Given the description of an element on the screen output the (x, y) to click on. 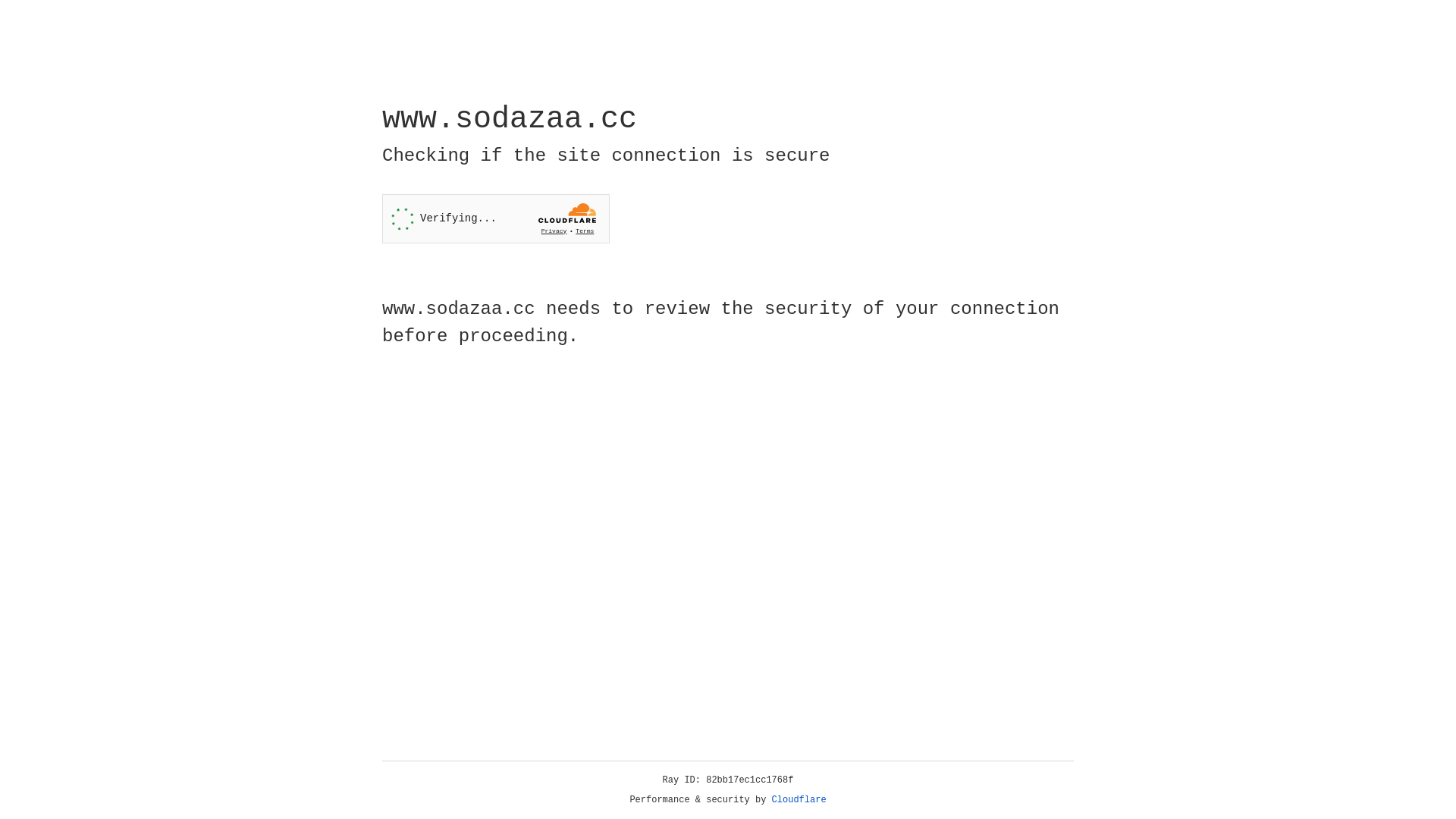
Widget containing a Cloudflare security challenge Element type: hover (495, 218)
Cloudflare Element type: text (798, 799)
